Given the description of an element on the screen output the (x, y) to click on. 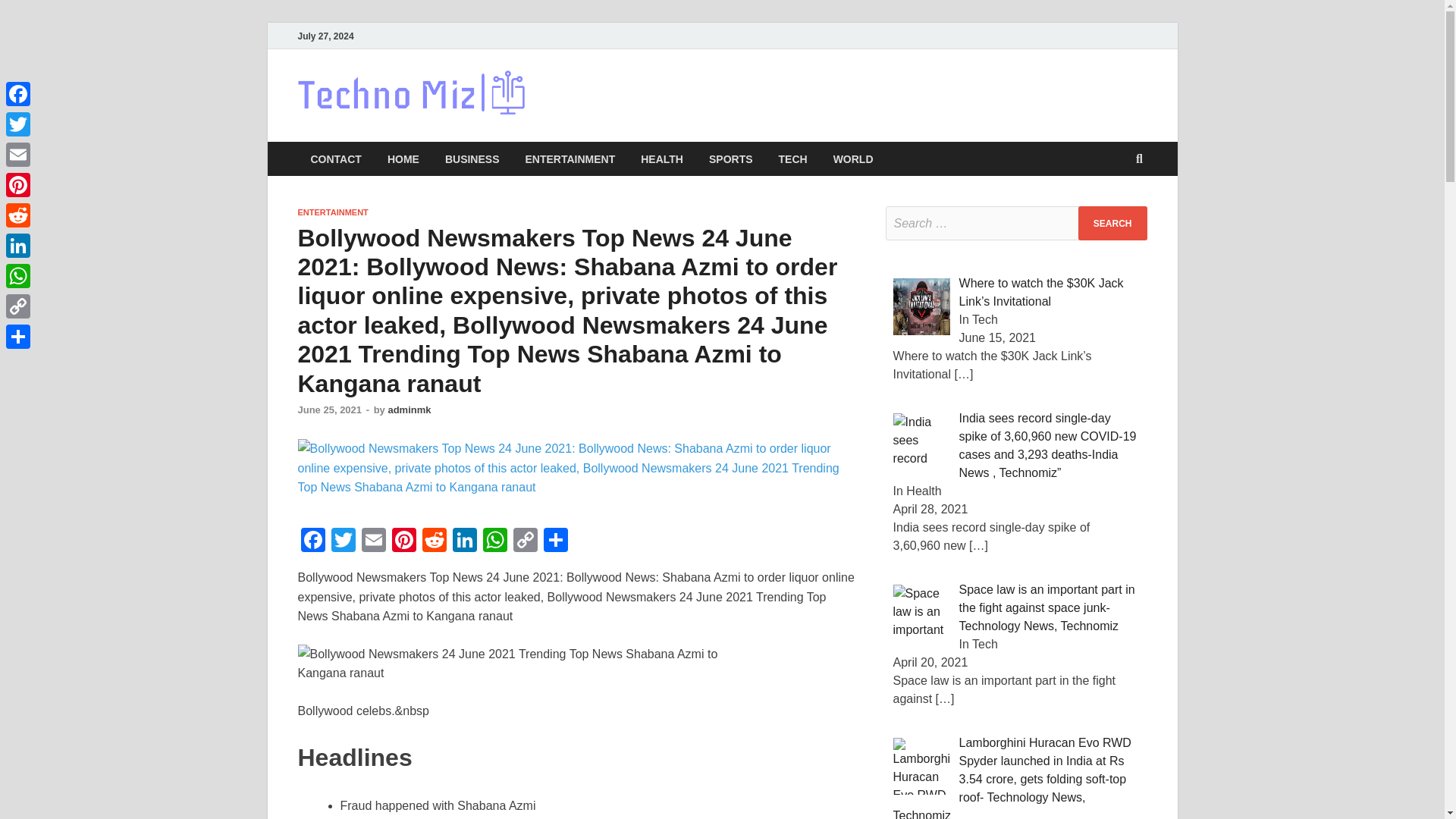
Pinterest (403, 541)
CONTACT (335, 158)
Search (1112, 223)
Facebook (312, 541)
Search (1112, 223)
ENTERTAINMENT (569, 158)
Share (555, 541)
Twitter (342, 541)
WORLD (853, 158)
Copy Link (524, 541)
HEALTH (661, 158)
Copy Link (524, 541)
WhatsApp (494, 541)
TechnoMiz (606, 100)
